Given the description of an element on the screen output the (x, y) to click on. 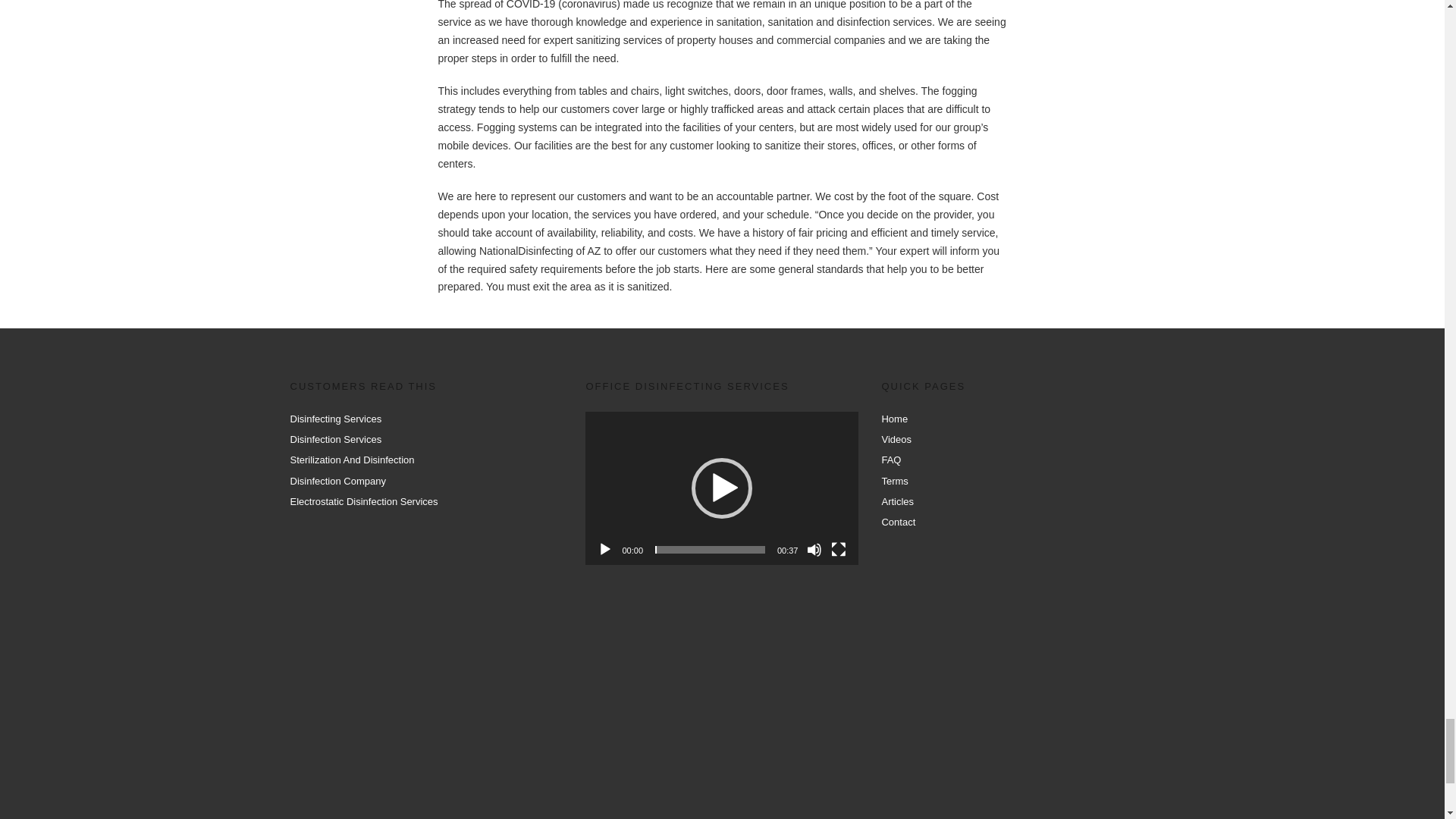
Mute (814, 549)
Fullscreen (838, 549)
Sterilization And Disinfection (351, 460)
Electrostatic Disinfection Services (363, 501)
Disinfection Services (335, 439)
National Disinfecting (716, 705)
Play (604, 549)
Disinfecting Services (335, 419)
Disinfection Company (337, 480)
